Given the description of an element on the screen output the (x, y) to click on. 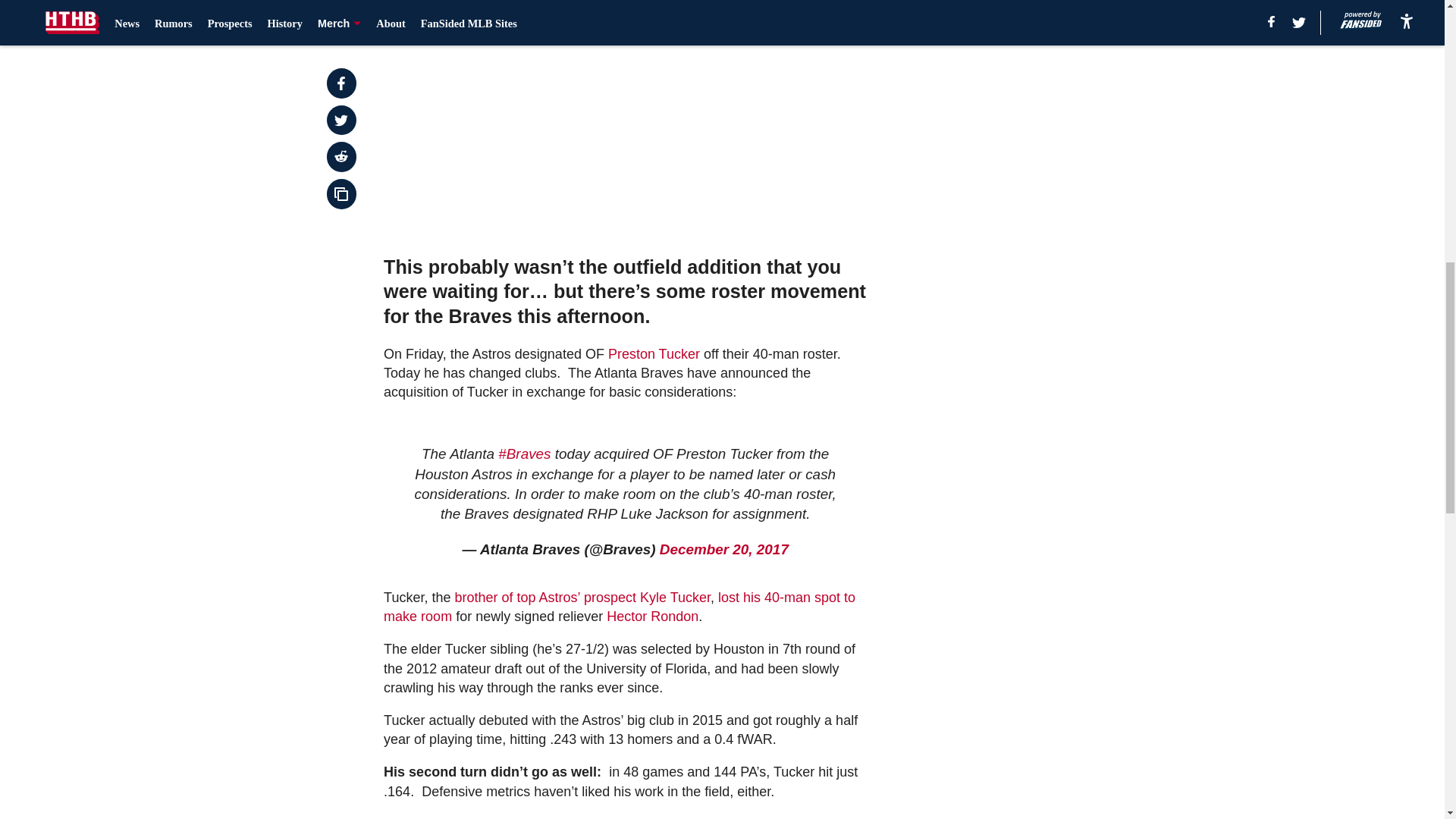
December 20, 2017 (724, 549)
Preston Tucker (654, 353)
lost his 40-man spot to make room (620, 606)
Hector Rondon (652, 616)
Kyle Tucker (675, 597)
